Given the description of an element on the screen output the (x, y) to click on. 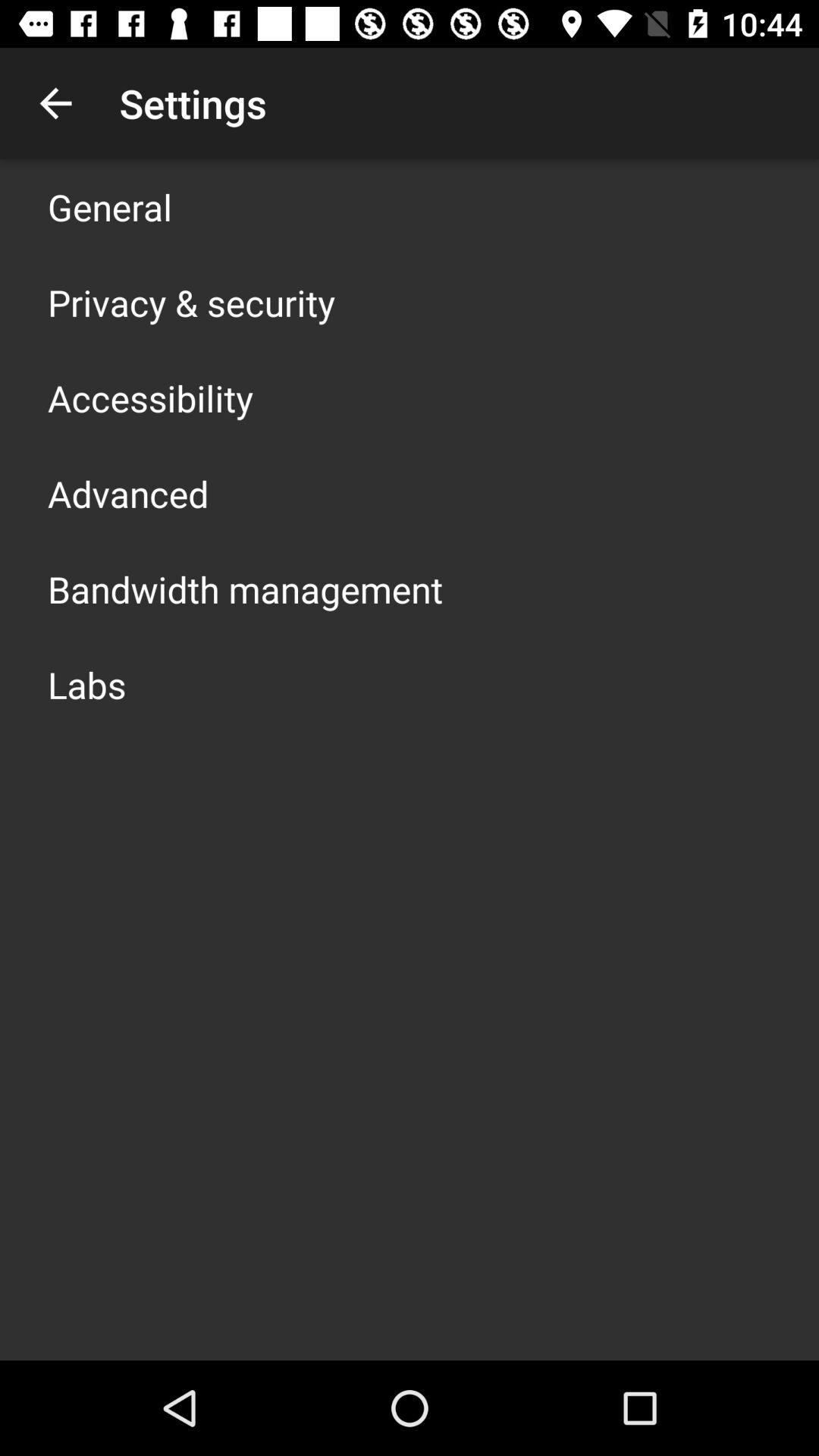
turn off the general item (109, 206)
